Given the description of an element on the screen output the (x, y) to click on. 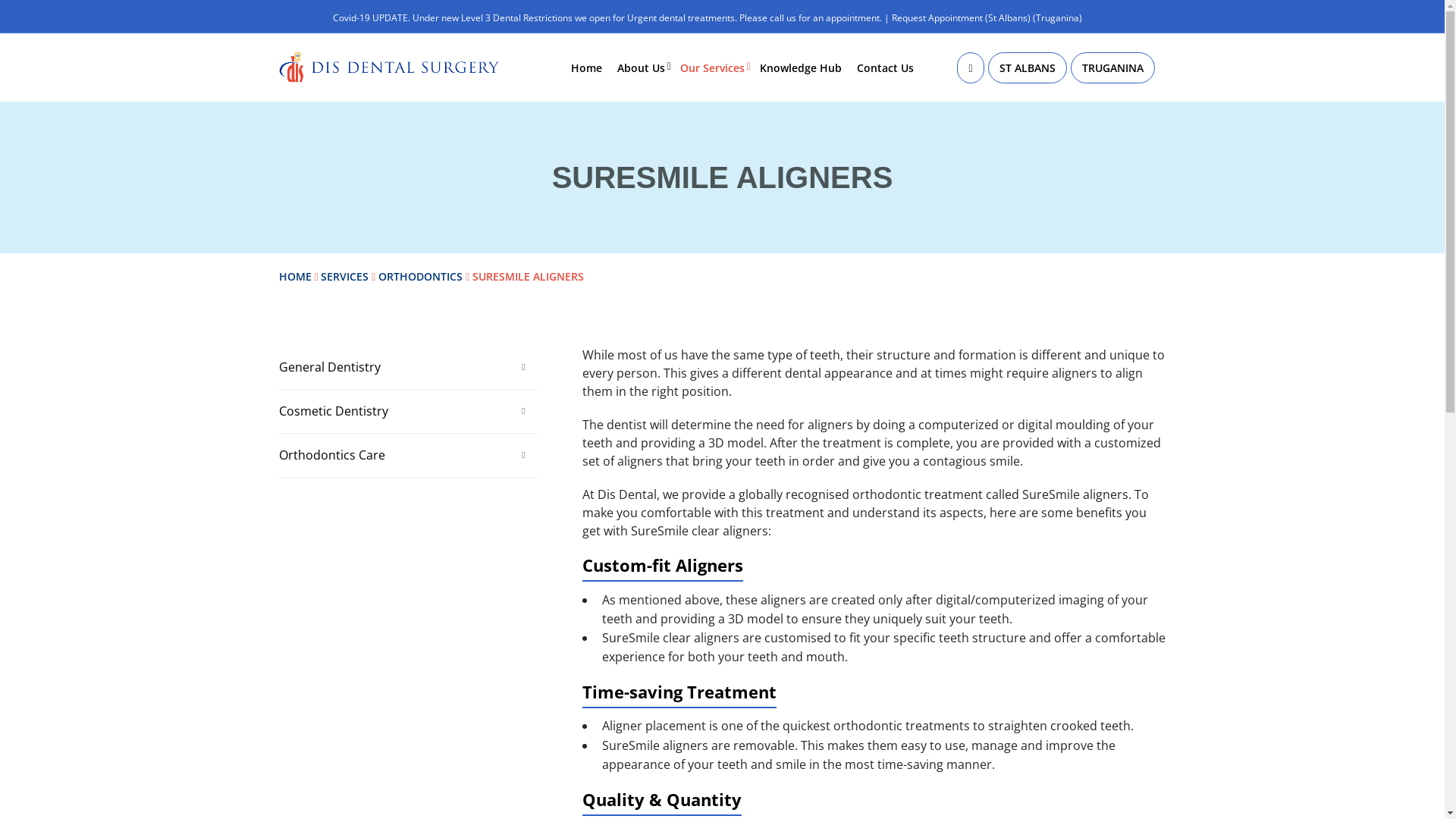
SERVICES Element type: text (344, 276)
ST ALBANS Element type: text (1026, 67)
Knowledge Hub Element type: text (800, 67)
HOME Element type: text (295, 276)
(Truganina) Element type: text (1057, 17)
Home Element type: text (586, 67)
Contact Us Element type: text (885, 67)
Orthodontics Care Element type: text (407, 454)
General Dentistry Element type: text (407, 366)
TRUGANINA Element type: text (1112, 67)
Cosmetic Dentistry Element type: text (407, 410)
(St Albans) Element type: text (1006, 17)
Our Services Element type: text (712, 67)
ORTHODONTICS Element type: text (420, 276)
About Us Element type: text (640, 67)
